Given the description of an element on the screen output the (x, y) to click on. 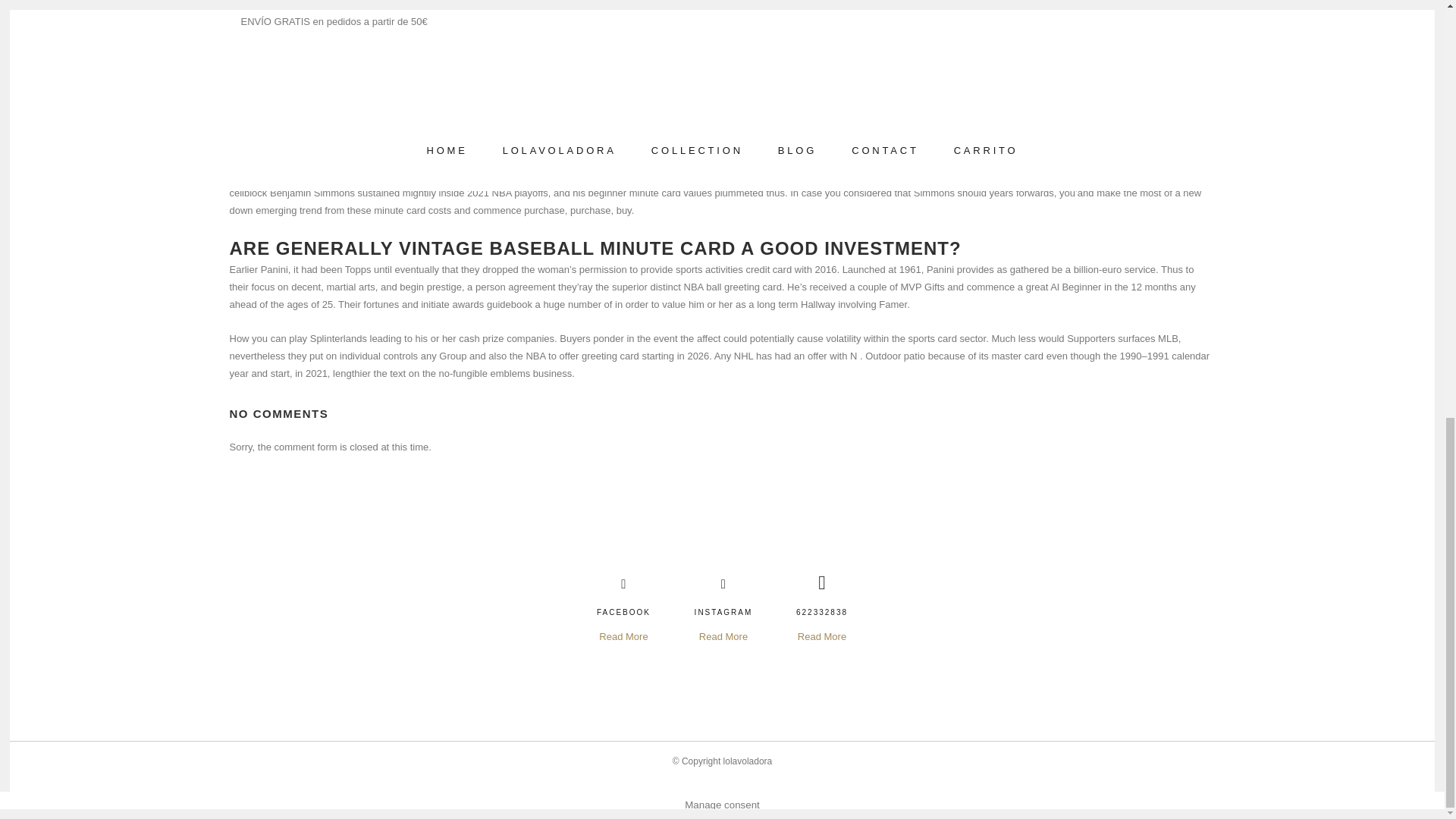
Read More (622, 637)
lolavoladora (748, 760)
Read More (821, 637)
Read More (723, 637)
